Given the description of an element on the screen output the (x, y) to click on. 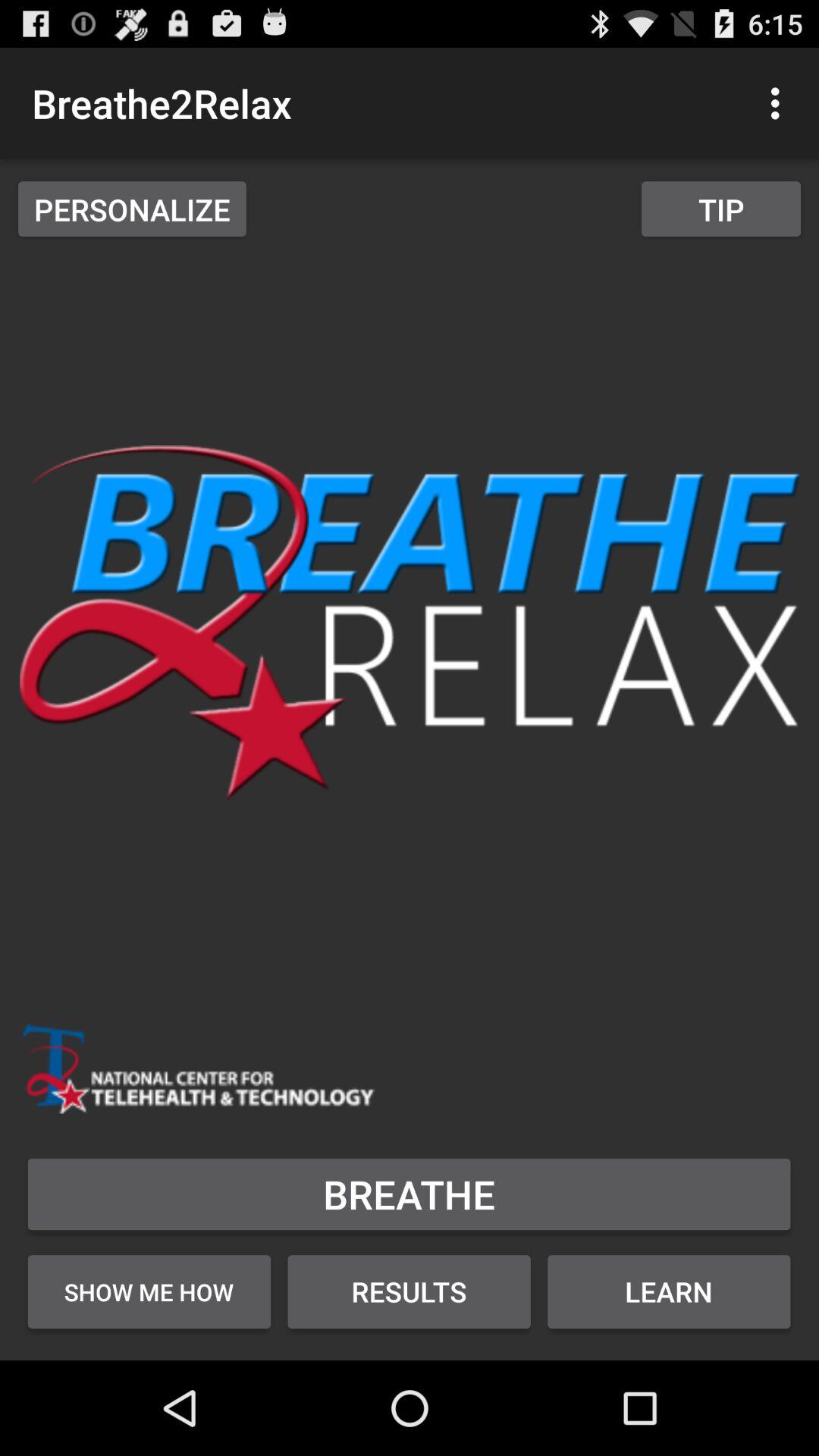
choose breathe button (408, 1194)
